Given the description of an element on the screen output the (x, y) to click on. 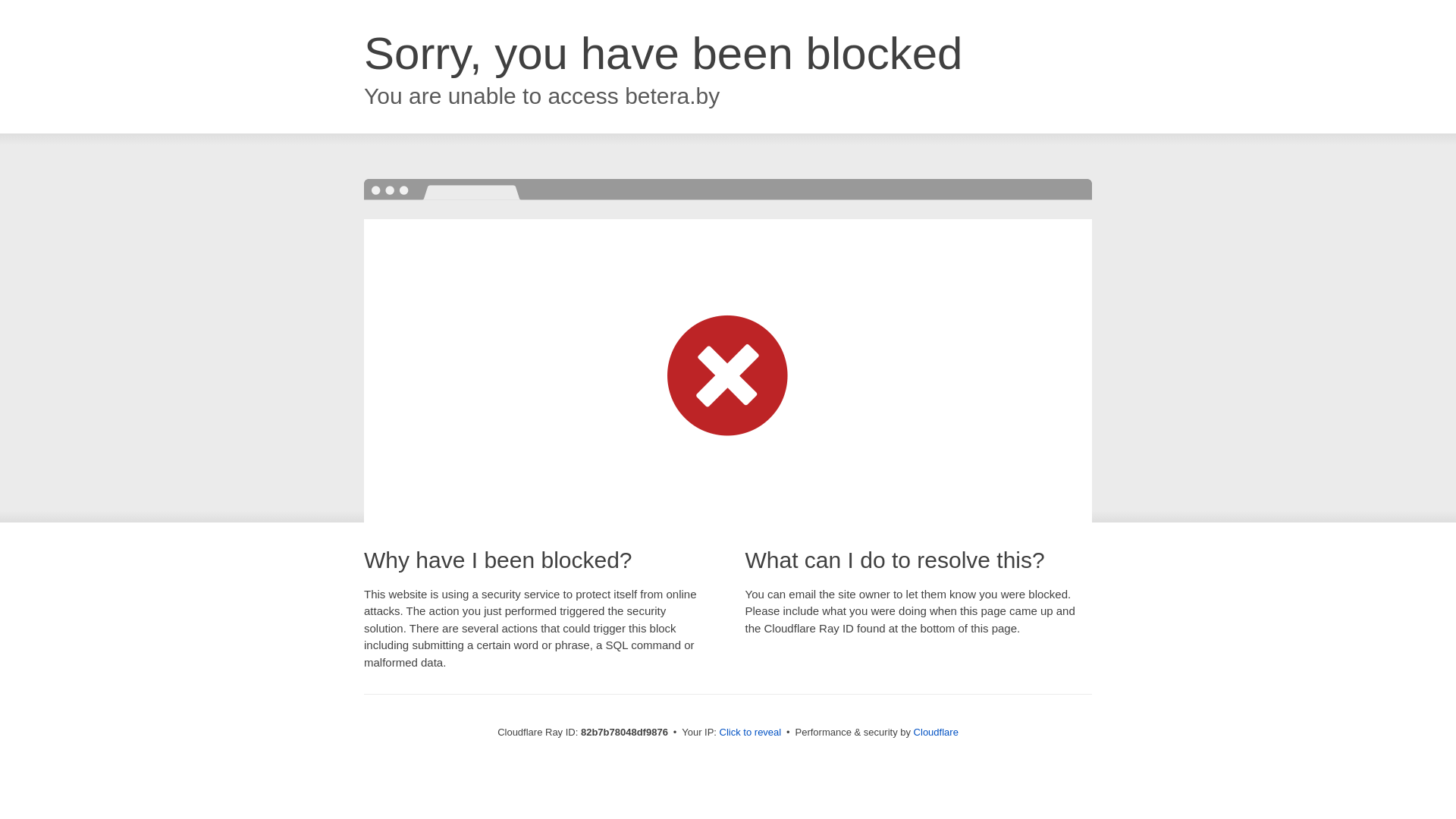
Click to reveal Element type: text (750, 732)
Cloudflare Element type: text (935, 731)
